Given the description of an element on the screen output the (x, y) to click on. 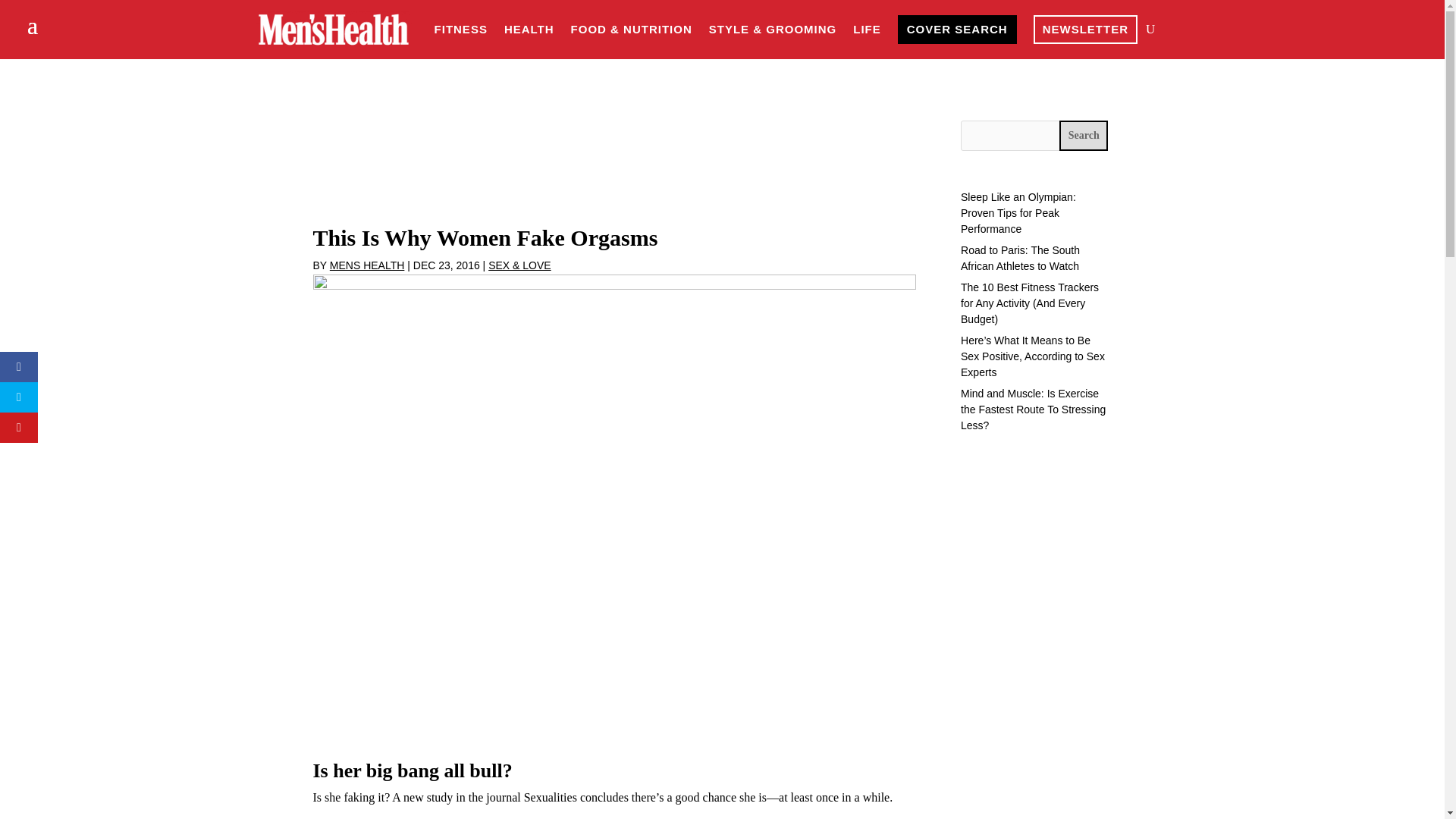
Posts by Mens Health (367, 265)
3rd party ad content (613, 169)
